Given the description of an element on the screen output the (x, y) to click on. 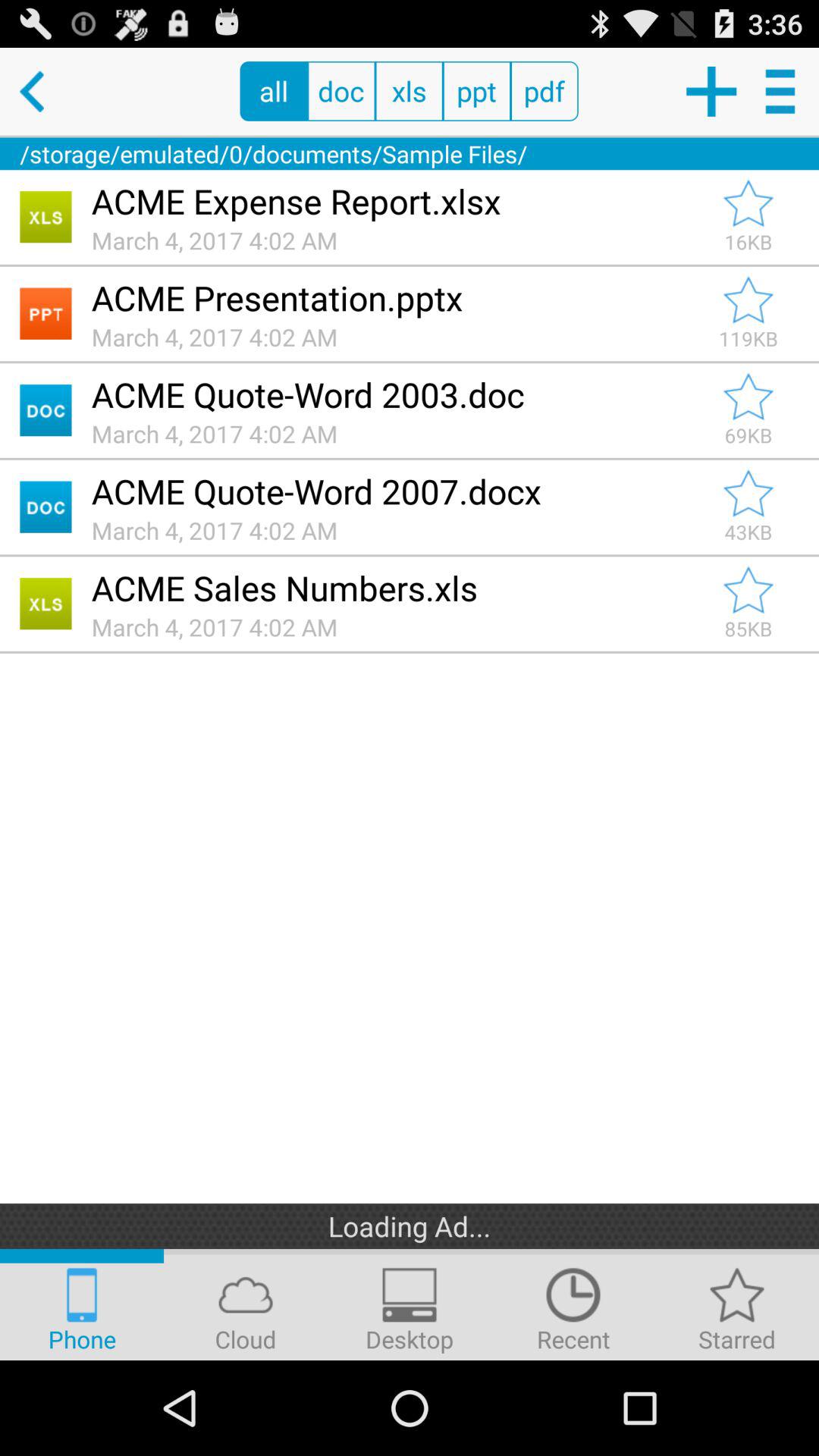
choose the all (273, 91)
